Given the description of an element on the screen output the (x, y) to click on. 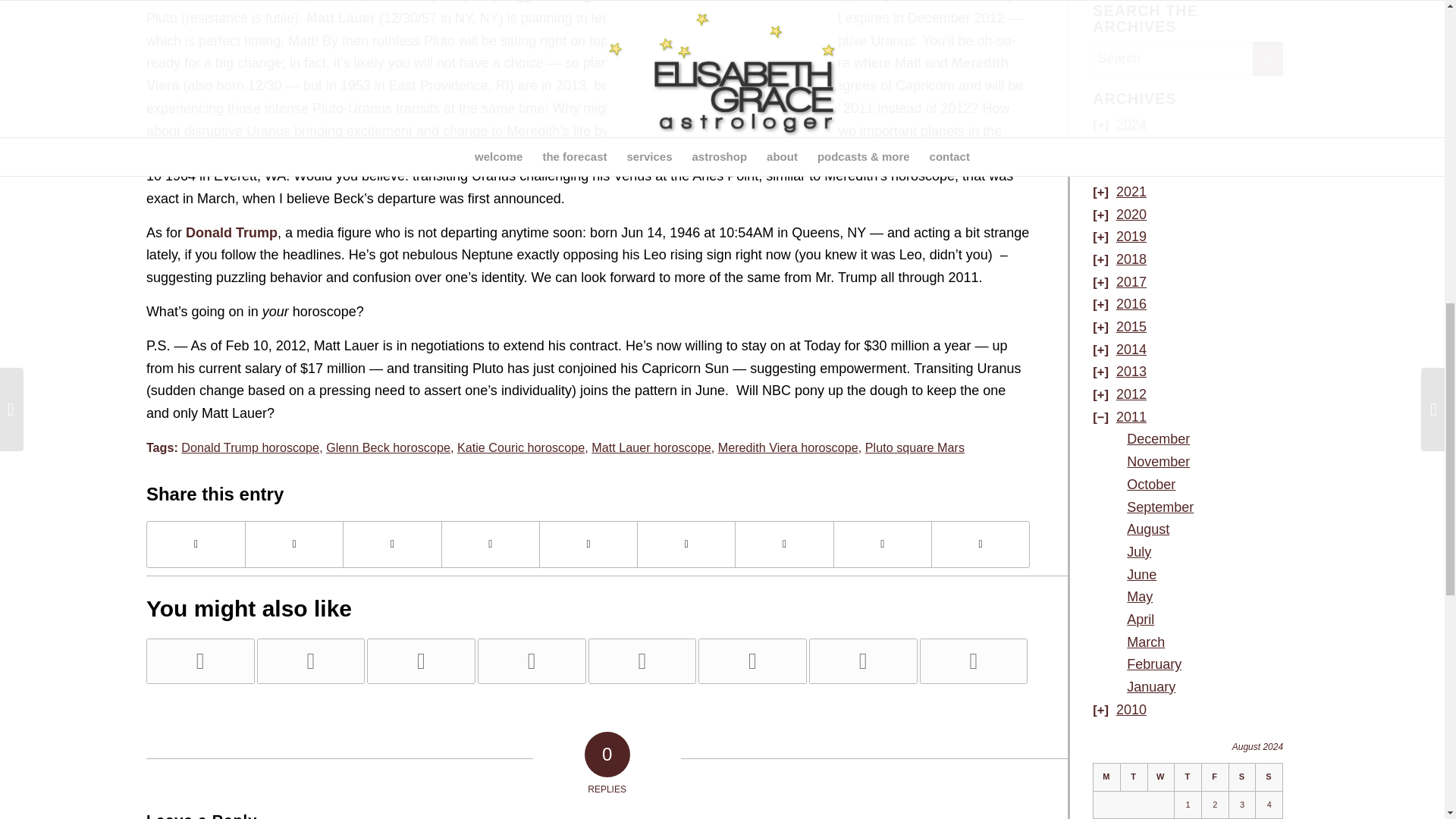
Meredith Viera horoscope (788, 447)
Donald Trump horoscope (249, 447)
Pluto square Mars (913, 447)
Katie Couric horoscope (521, 447)
Matt Lauer horoscope (650, 447)
Glenn Beck horoscope (387, 447)
